Given the description of an element on the screen output the (x, y) to click on. 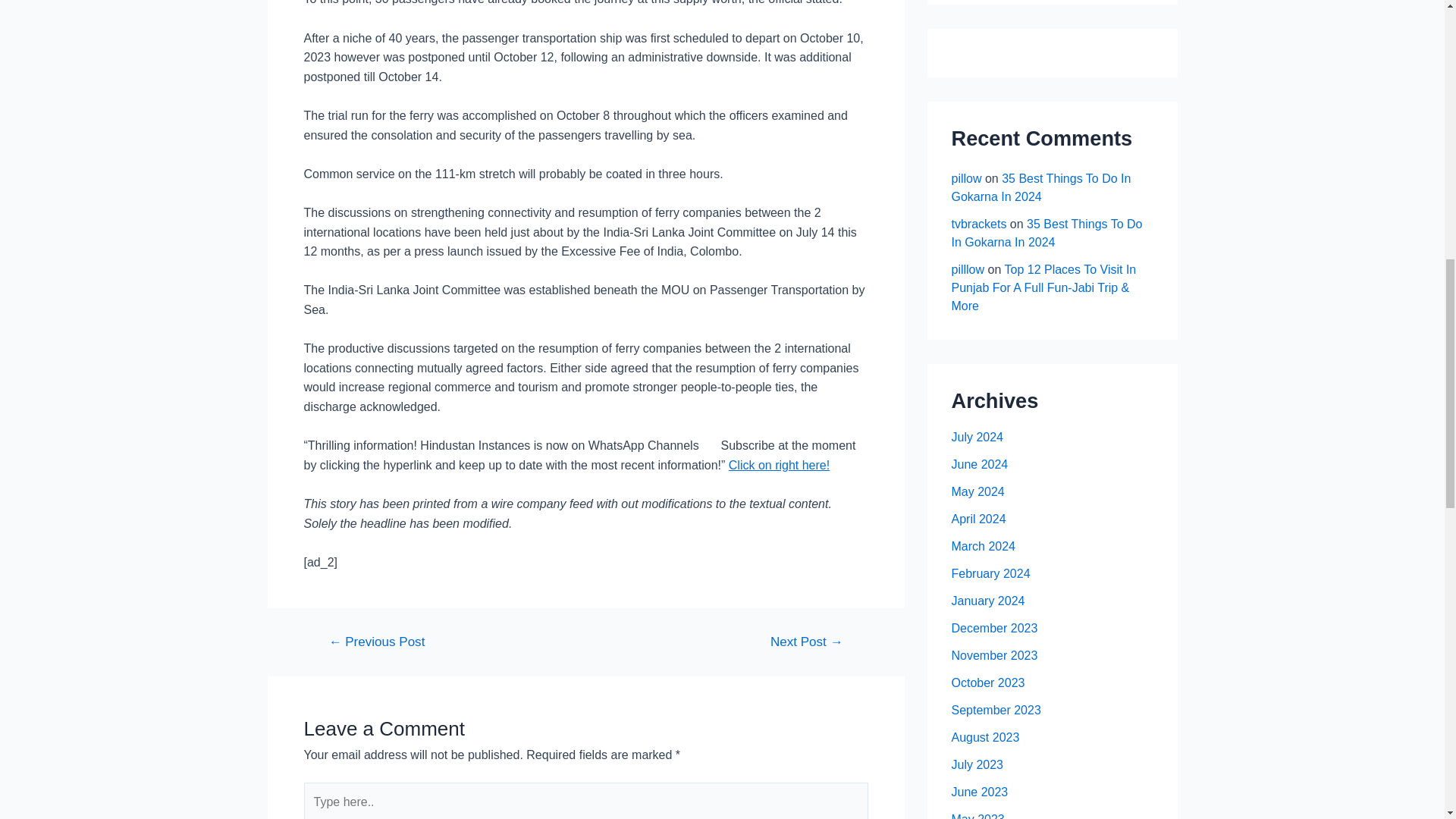
Click on right here! (779, 464)
